Given the description of an element on the screen output the (x, y) to click on. 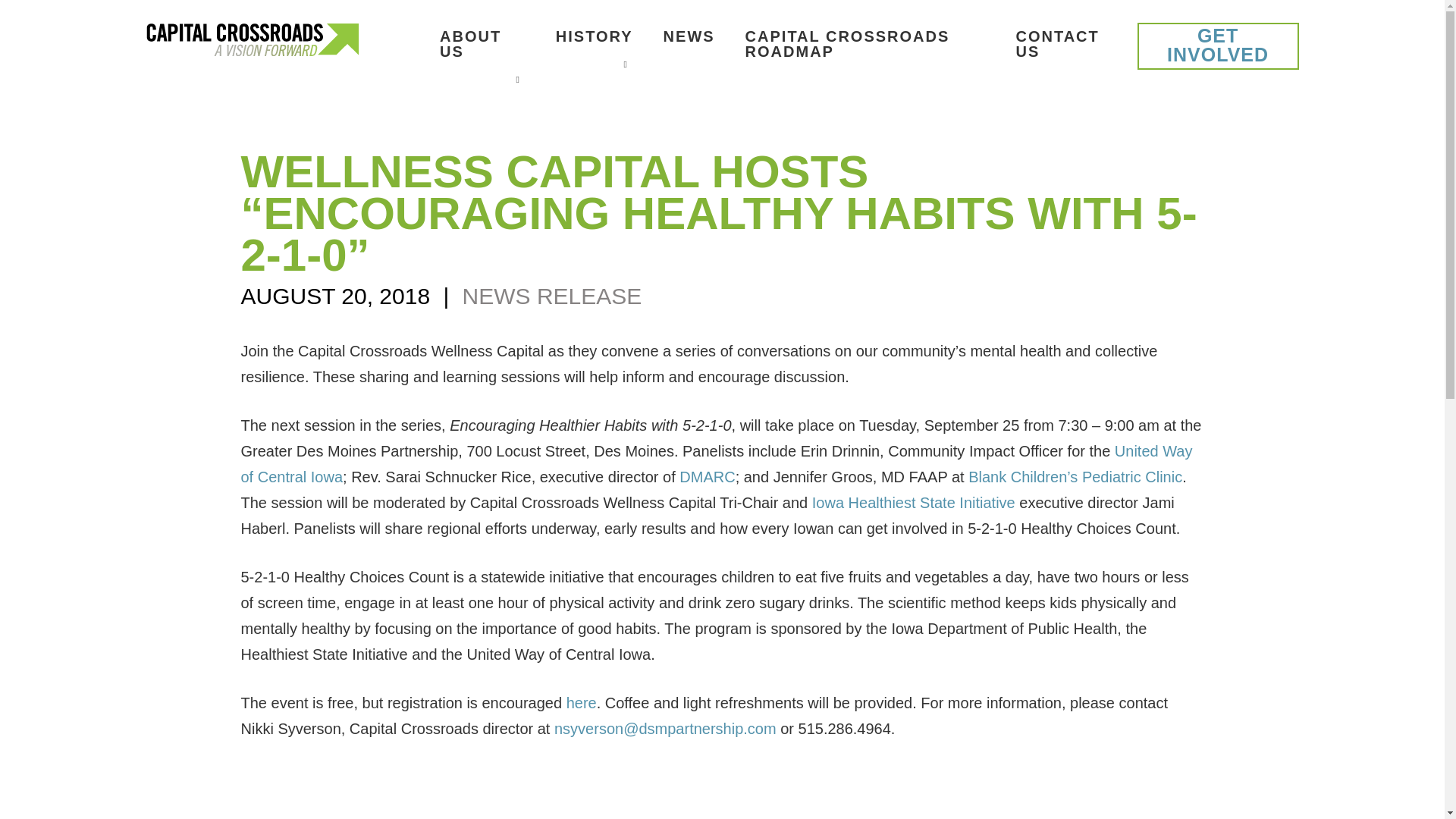
News (688, 35)
Capital Crossroads Roadmap (865, 43)
NEWS RELEASE (552, 295)
here (581, 702)
HISTORY (594, 35)
GET INVOLVED (1217, 45)
About Us (482, 43)
CONTACT US (1061, 43)
DMARC (707, 476)
CAPITAL CROSSROADS ROADMAP (865, 43)
Contact Us (1061, 43)
United Way of Central Iowa (716, 464)
NEWS (688, 35)
Iowa Healthiest State Initiative (913, 502)
ABOUT US (482, 43)
